Given the description of an element on the screen output the (x, y) to click on. 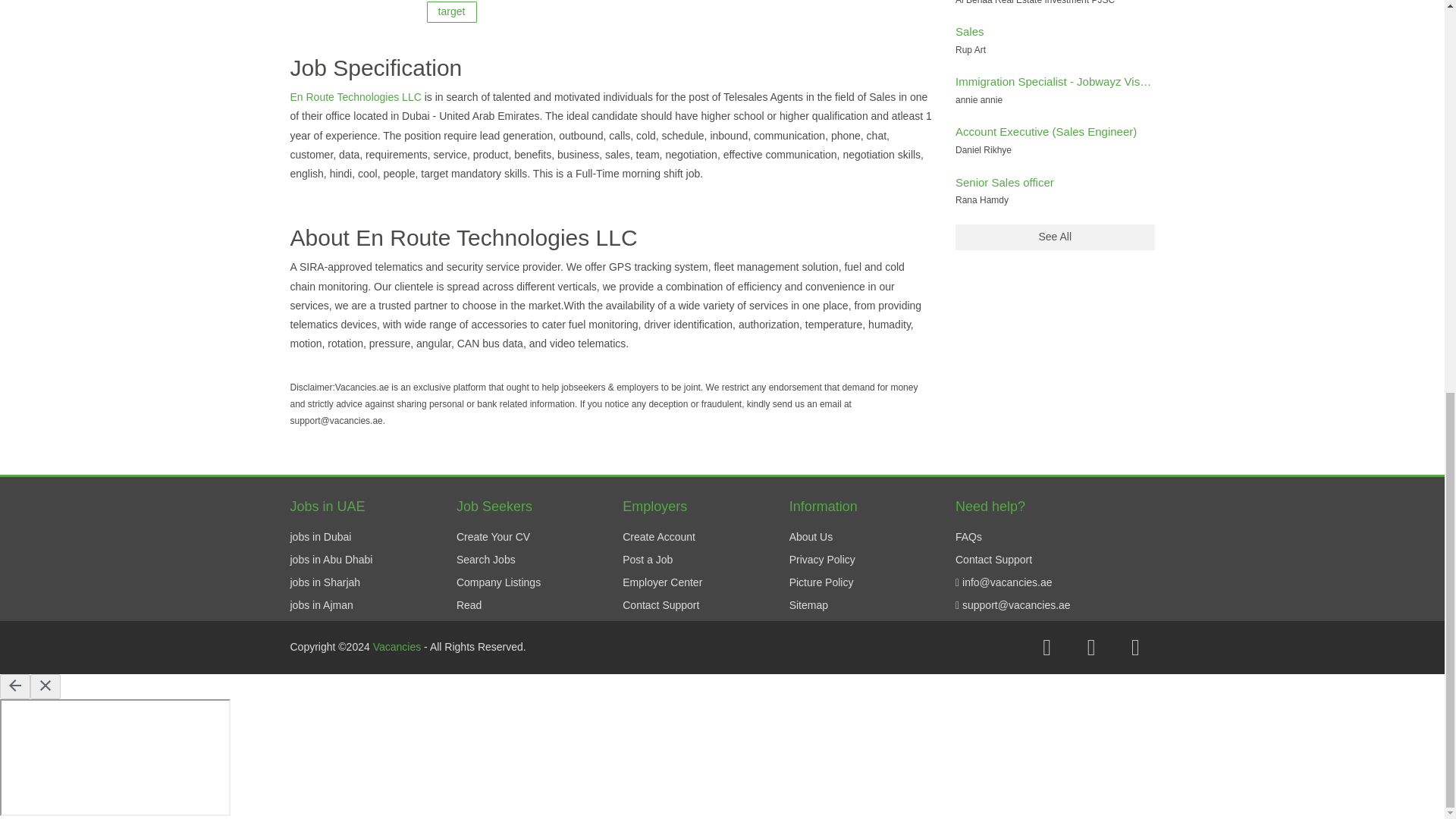
Senior Sales officer (1004, 182)
Follow vacancies on Linkedin (1135, 647)
Follow vacancies on Twitter (1090, 647)
See All (1054, 237)
jobs in Abu Dhabi (330, 559)
jobs in Sharjah (324, 582)
En Route Technologies LLC (356, 96)
Create Account (659, 536)
Search Jobs (486, 559)
Company Listings (498, 582)
jobs in Dubai (319, 536)
Read (469, 604)
Sales (969, 31)
Create Your CV (493, 536)
Follow vacancies on Facebook (1046, 647)
